Given the description of an element on the screen output the (x, y) to click on. 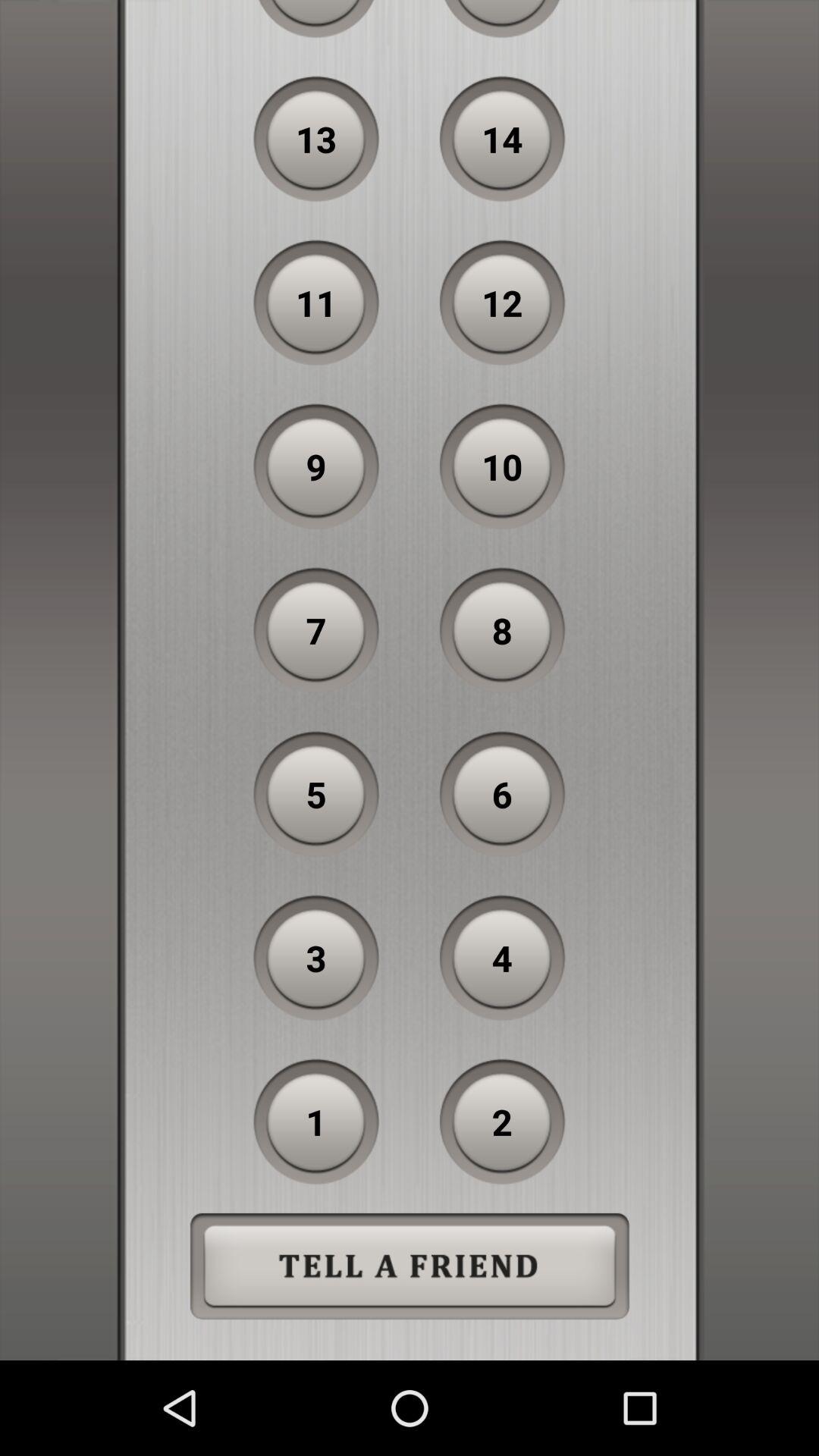
press button to the left of 14 button (316, 138)
